Given the description of an element on the screen output the (x, y) to click on. 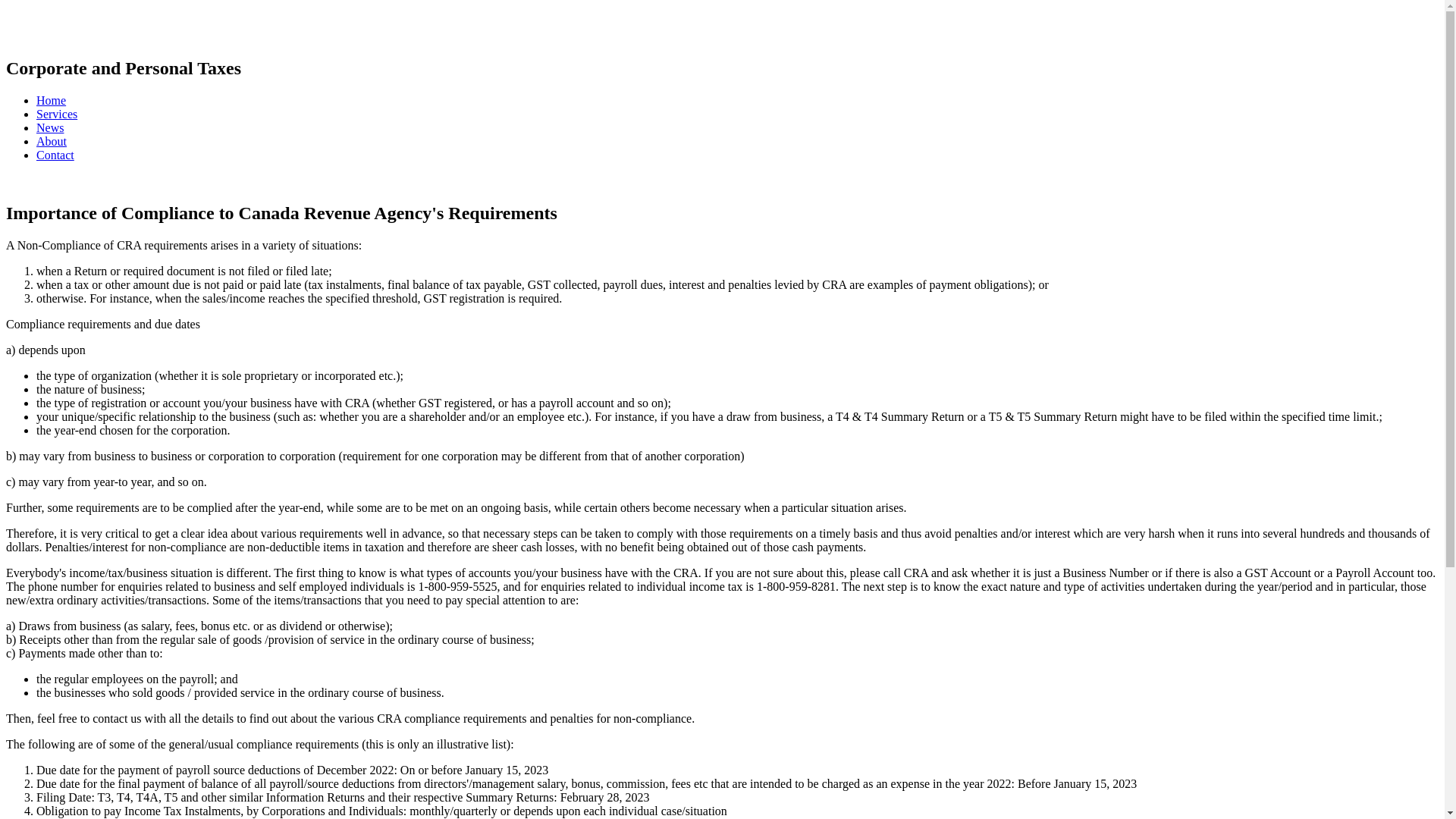
Contact Element type: text (55, 154)
Services Element type: text (56, 113)
Home Element type: text (50, 100)
News Element type: text (49, 127)
About Element type: text (51, 140)
